Given the description of an element on the screen output the (x, y) to click on. 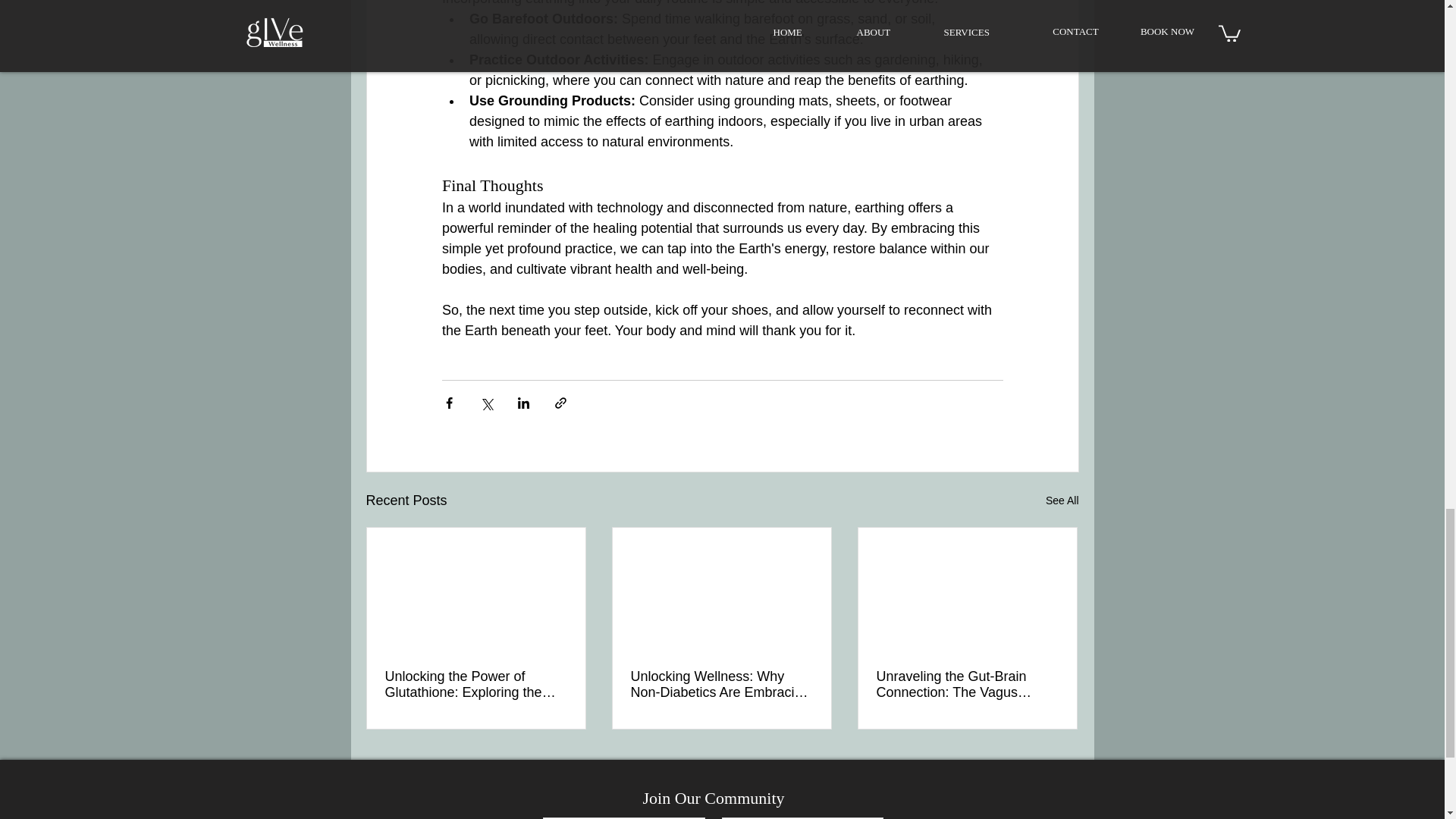
See All (1061, 500)
